Given the description of an element on the screen output the (x, y) to click on. 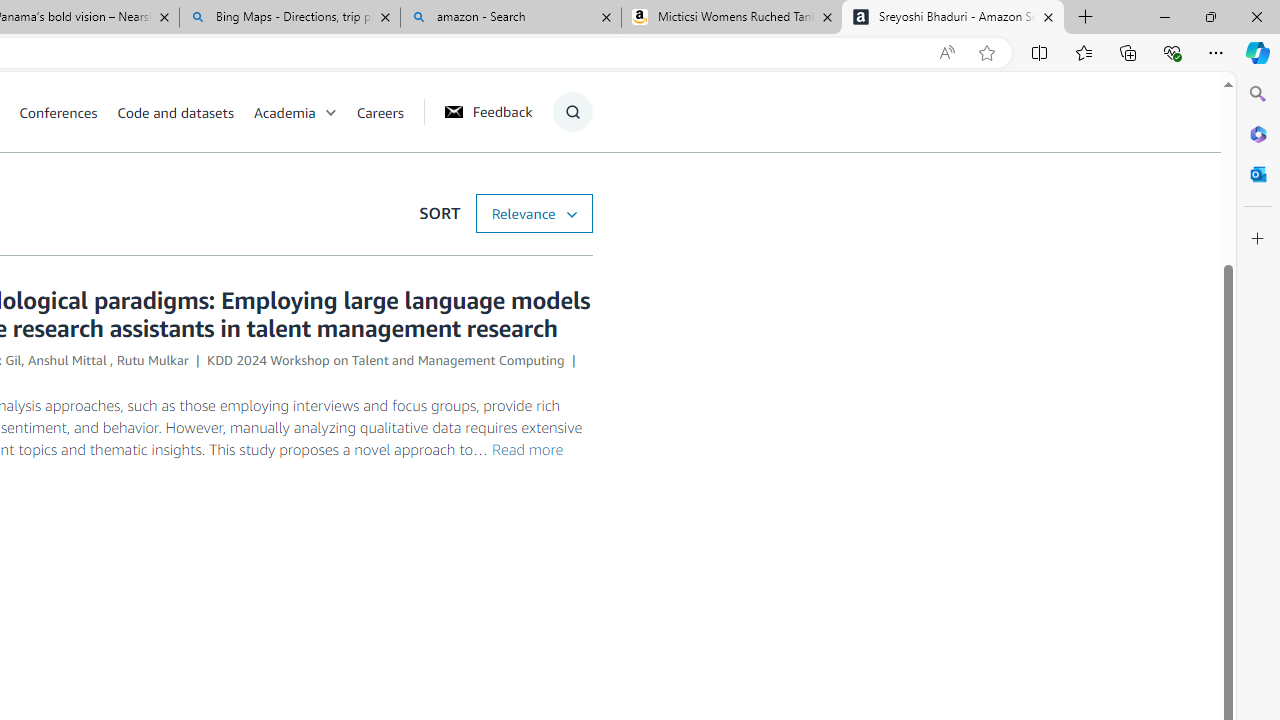
SORT (533, 213)
Code and datasets (175, 111)
Code and datasets (184, 111)
